Given the description of an element on the screen output the (x, y) to click on. 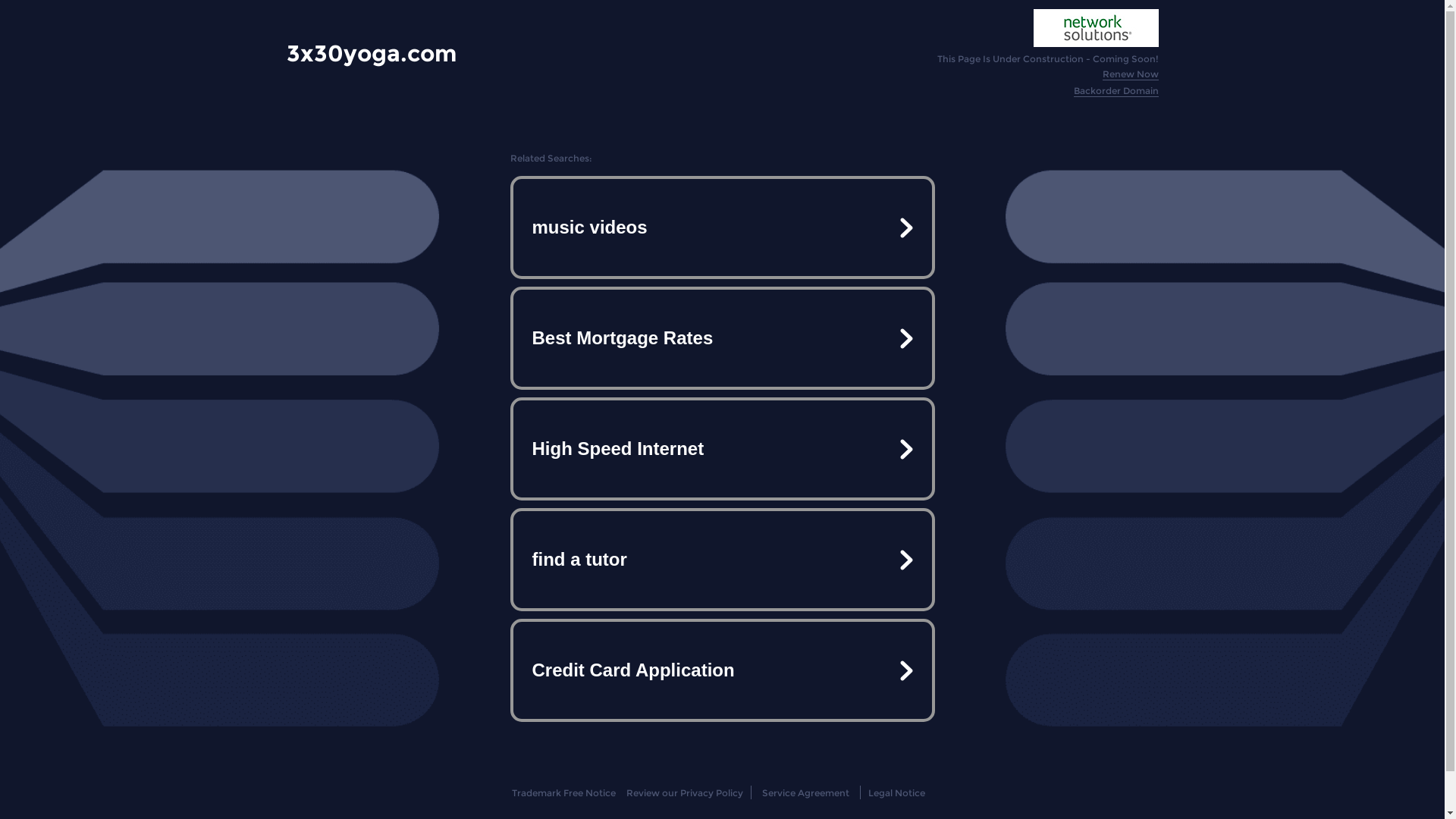
Legal Notice Element type: text (896, 792)
find a tutor Element type: text (721, 559)
Credit Card Application Element type: text (721, 669)
Trademark Free Notice Element type: text (563, 792)
High Speed Internet Element type: text (721, 448)
Review our Privacy Policy Element type: text (684, 792)
Best Mortgage Rates Element type: text (721, 337)
Renew Now Element type: text (1130, 74)
music videos Element type: text (721, 227)
Backorder Domain Element type: text (1115, 90)
Service Agreement Element type: text (805, 792)
3x30yoga.com Element type: text (371, 53)
